Given the description of an element on the screen output the (x, y) to click on. 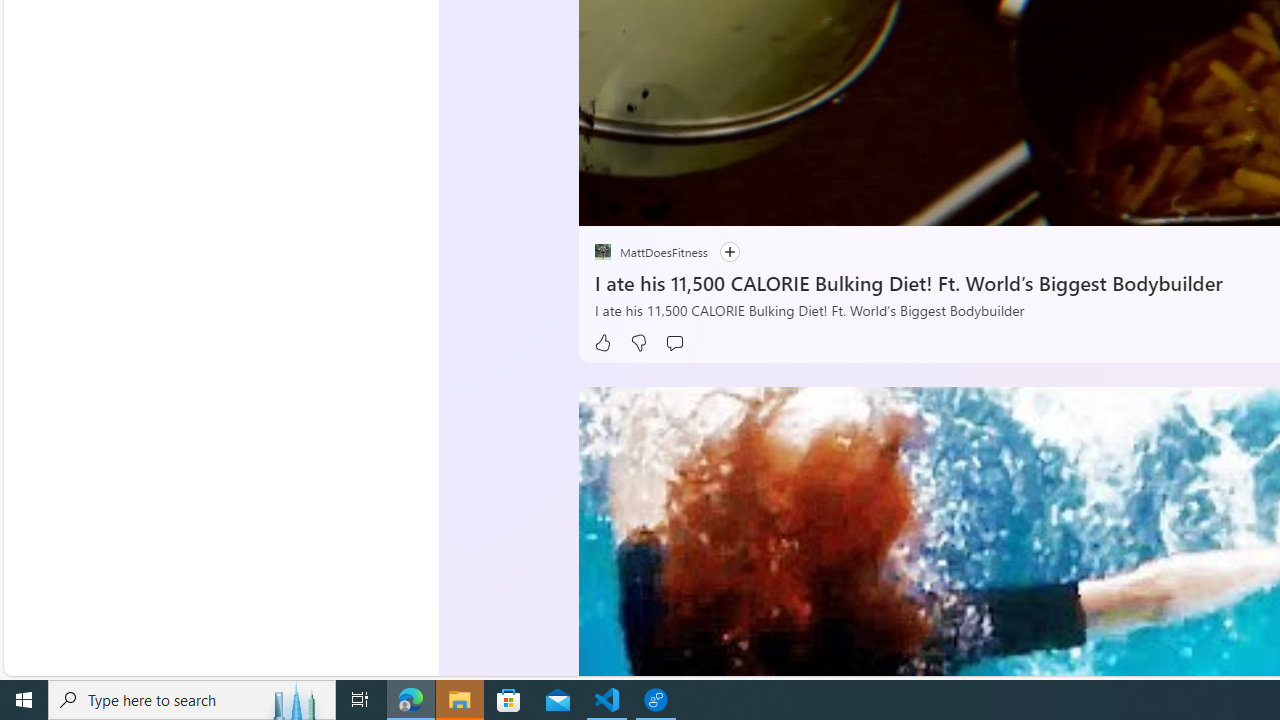
Like (601, 343)
Seek Forward (688, 203)
Follow (729, 251)
Seek Back (648, 203)
placeholder (601, 252)
Pause (607, 203)
